Given the description of an element on the screen output the (x, y) to click on. 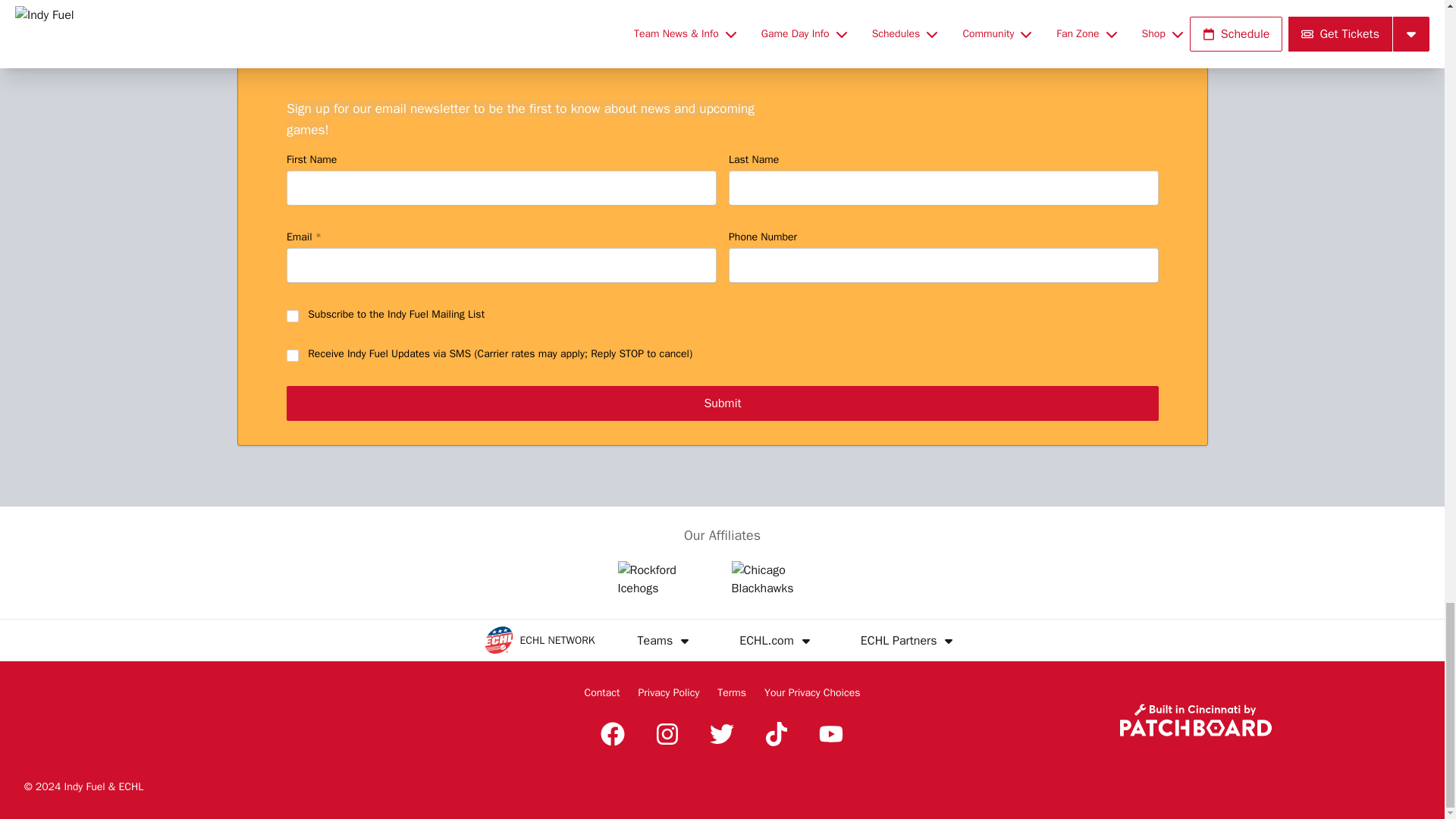
on (292, 355)
Instagram (667, 733)
YouTube (830, 733)
Twitter (721, 733)
Facebook (612, 733)
on (292, 316)
TikTok (776, 733)
Built in Cincinnati by Patchboard (1195, 719)
